Given the description of an element on the screen output the (x, y) to click on. 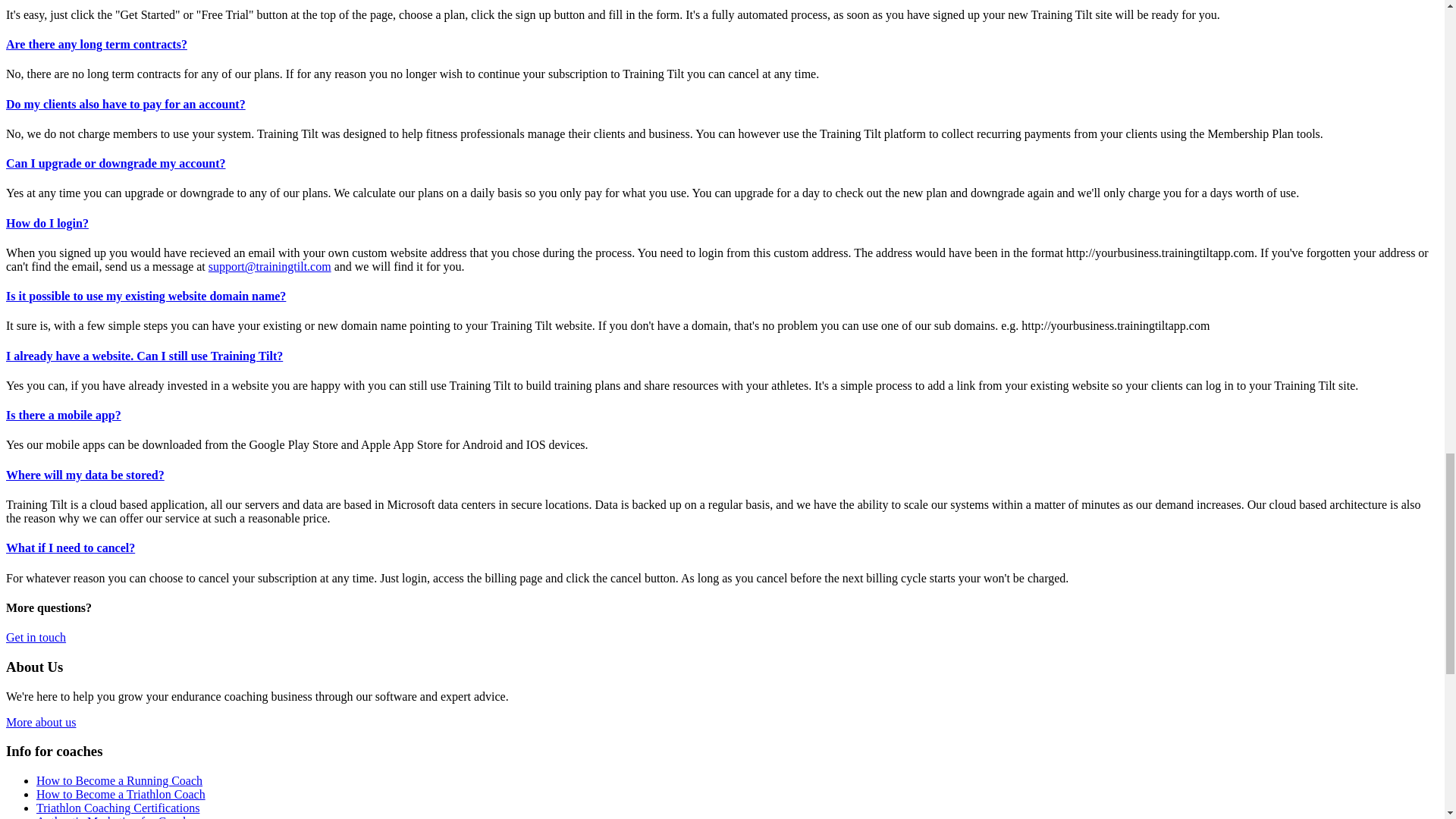
Are there any long term contracts? (96, 43)
How to Become a Running Coach (119, 780)
Is it possible to use my existing website domain name? (145, 295)
Do my clients also have to pay for an account? (125, 103)
I already have a website. Can I still use Training Tilt? (143, 355)
How do I login? (46, 223)
Triathlon Coaching Certifications (117, 807)
Is there a mobile app? (62, 414)
Can I upgrade or downgrade my account? (115, 163)
How to Become a Triathlon Coach (120, 793)
Authentic Marketing for Coaches (117, 816)
Get in touch (35, 636)
Where will my data be stored? (84, 474)
More about us (40, 721)
What if I need to cancel? (70, 547)
